Given the description of an element on the screen output the (x, y) to click on. 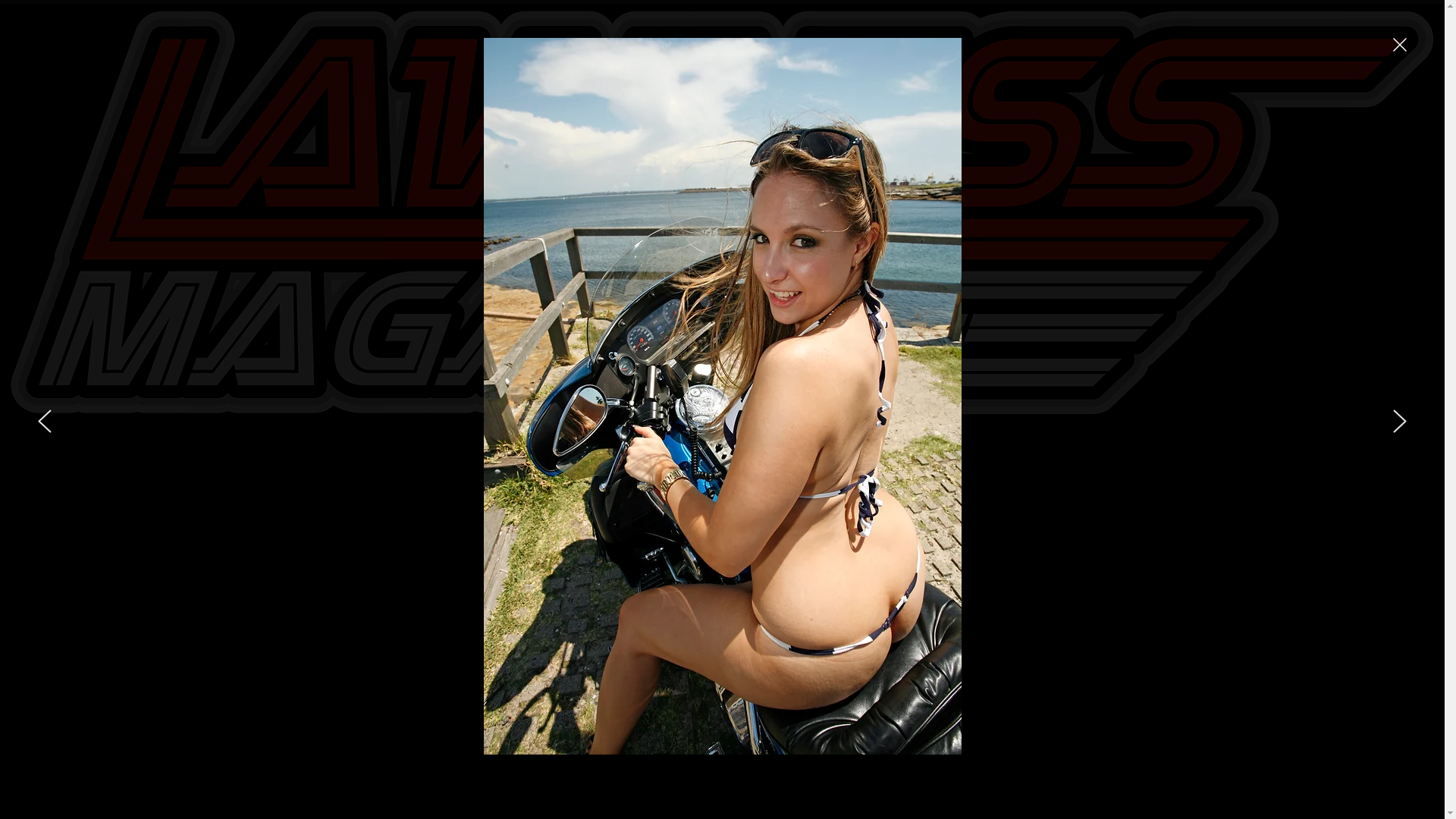
Google AdSense Element type: hover (512, 518)
Google AdSense Element type: hover (930, 507)
